Given the description of an element on the screen output the (x, y) to click on. 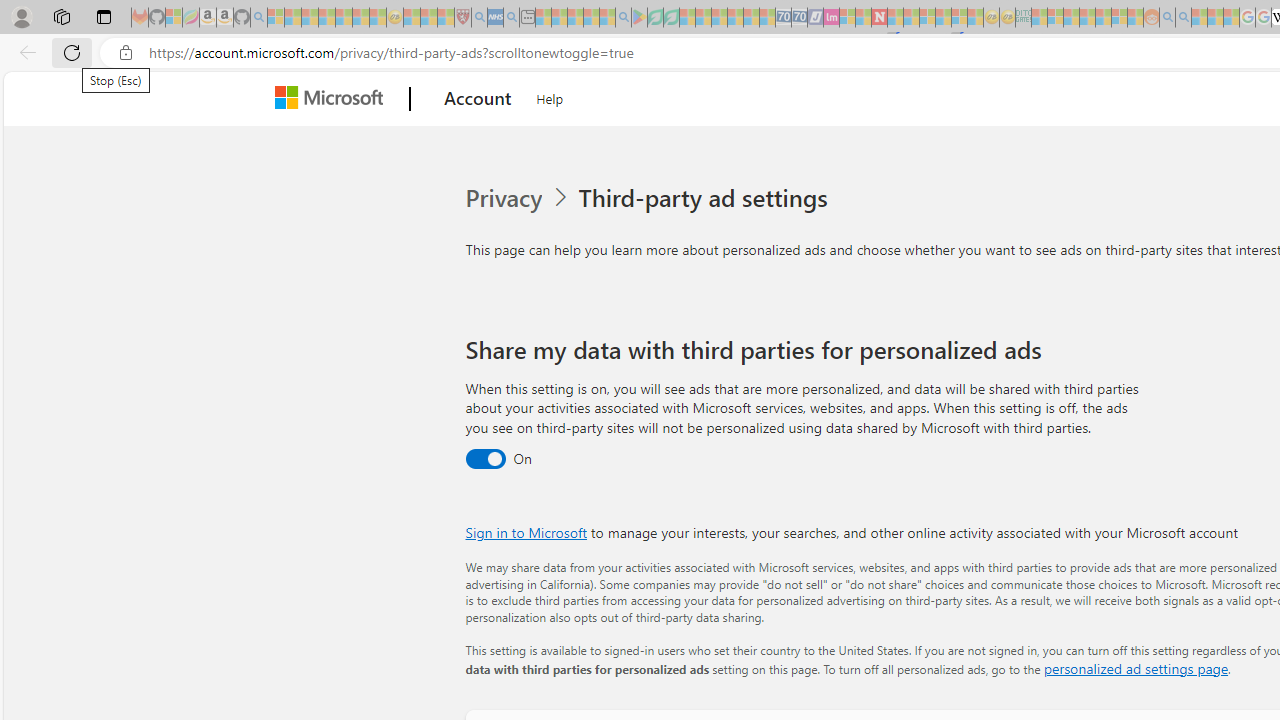
Cheap Hotels - Save70.com - Sleeping (799, 17)
14 Common Myths Debunked By Scientific Facts - Sleeping (911, 17)
Help (550, 96)
